Given the description of an element on the screen output the (x, y) to click on. 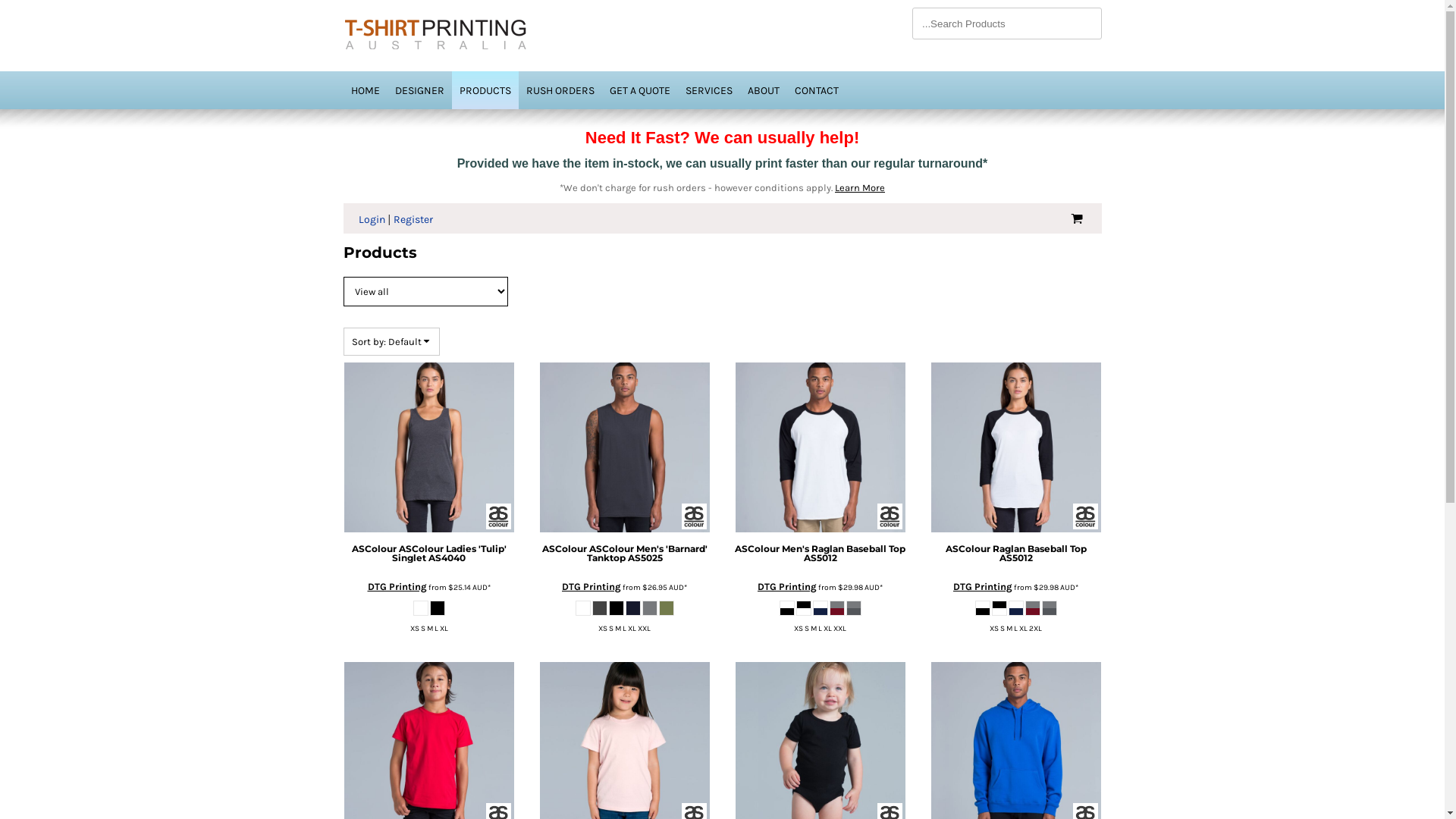
as Element type: text (11, 7)
GET A QUOTE Element type: text (639, 89)
DESIGNER Element type: text (418, 89)
ASColour Men's Raglan Baseball Top AS5012 Element type: hover (819, 447)
PRODUCTS Element type: text (485, 89)
Login Element type: text (370, 219)
HOME Element type: text (364, 89)
ASColour Men's Raglan Baseball Top AS5012 Element type: text (819, 552)
ASColour ASColour Ladies 'Tulip' Singlet AS4040 Element type: hover (428, 447)
SERVICES Element type: text (708, 89)
DTG Printing Element type: text (396, 586)
ASColour ASColour Men's 'Barnard' Tanktop AS5025 Element type: text (623, 552)
DTG Printing Element type: text (591, 586)
DTG Printing Element type: text (786, 586)
DTG Printing Element type: text (982, 586)
ASColour Raglan Baseball Top AS5012 Element type: text (1014, 552)
Learn More Element type: text (859, 187)
CONTACT Element type: text (816, 89)
ASColour ASColour Ladies 'Tulip' Singlet AS4040 Element type: text (428, 552)
RUSH ORDERS Element type: text (560, 89)
ABOUT Element type: text (763, 89)
ASColour Raglan Baseball Top AS5012 Element type: hover (1015, 447)
ASColour ASColour Men's 'Barnard' Tanktop AS5025 Element type: hover (623, 447)
Register Element type: text (413, 219)
